Given the description of an element on the screen output the (x, y) to click on. 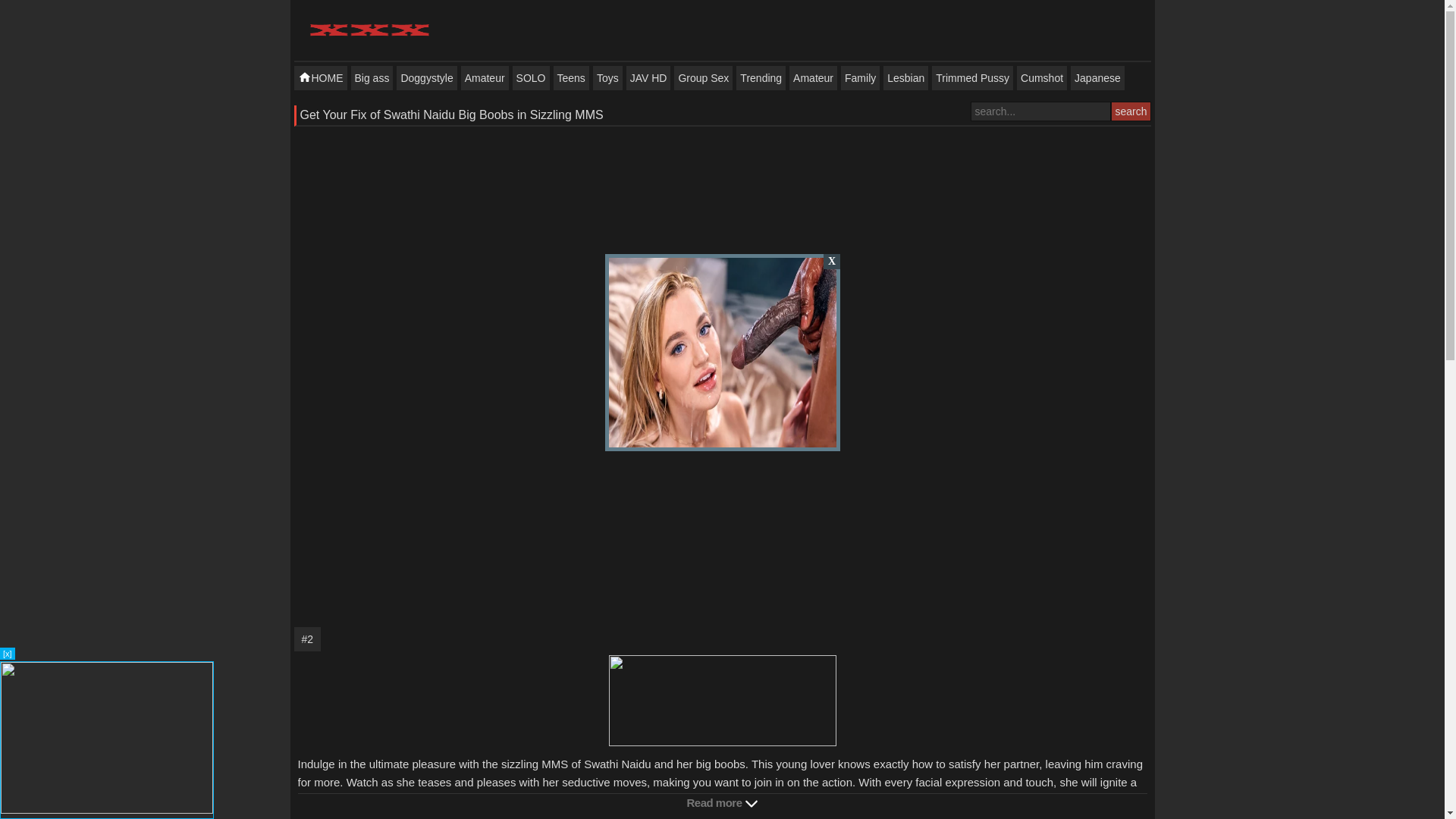
Amateur (813, 78)
Trending (761, 78)
Amateur (813, 78)
jav hd (648, 78)
Read more (722, 802)
Trending (761, 78)
Lesbian (905, 78)
SOLO (531, 78)
Lesbian (905, 78)
Trimmed Pussy (972, 78)
Get Your Fix of Swathi Naidu Big Boobs in Sizzling MMS (451, 114)
Amateur (484, 78)
Group Sex (703, 78)
JAV HD (648, 78)
